Given the description of an element on the screen output the (x, y) to click on. 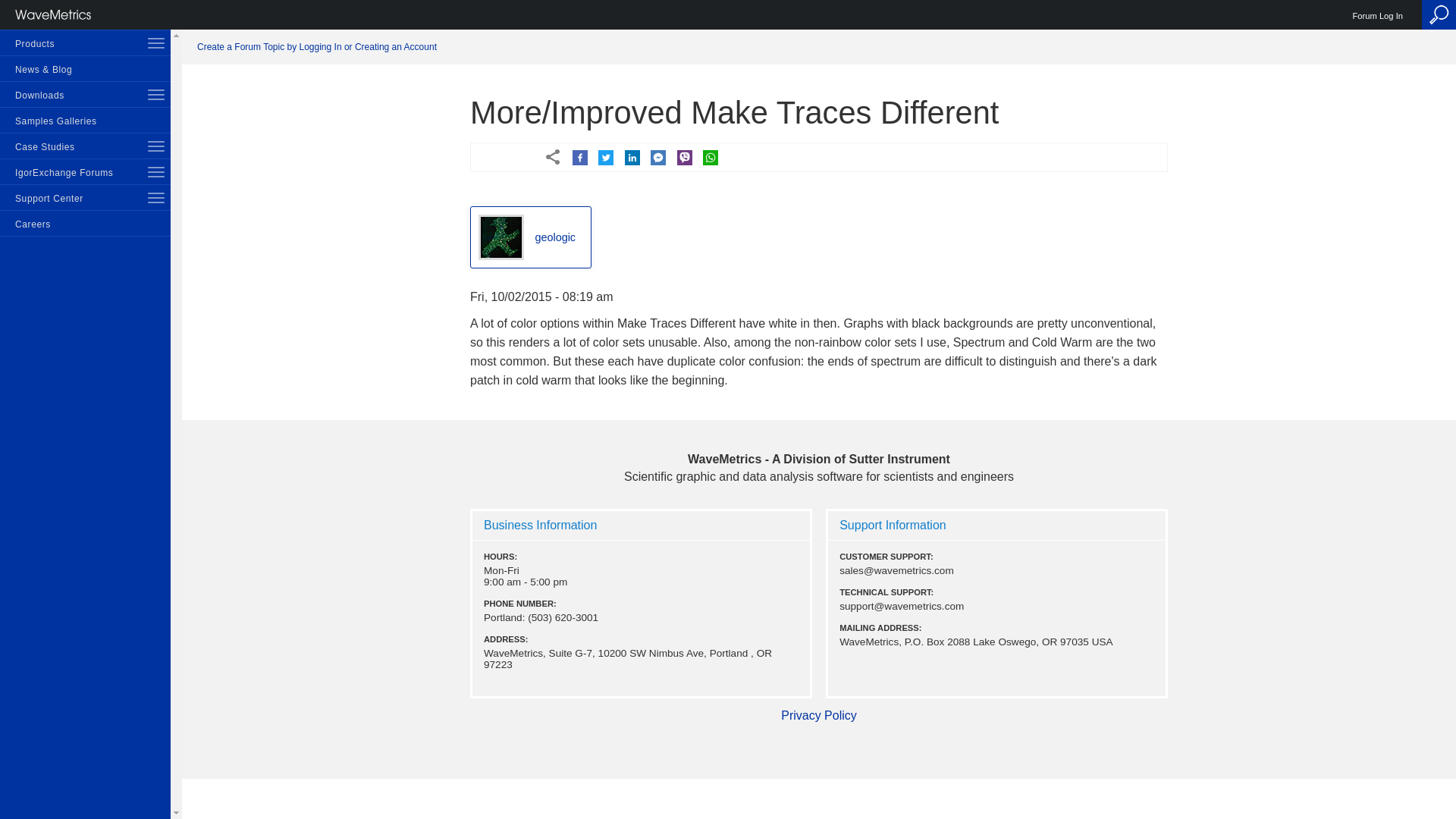
Products (85, 43)
Share on Facebook (580, 157)
Share via Messenger (657, 157)
Share on Twitter (605, 157)
Share on LinkedIn (632, 157)
